Given the description of an element on the screen output the (x, y) to click on. 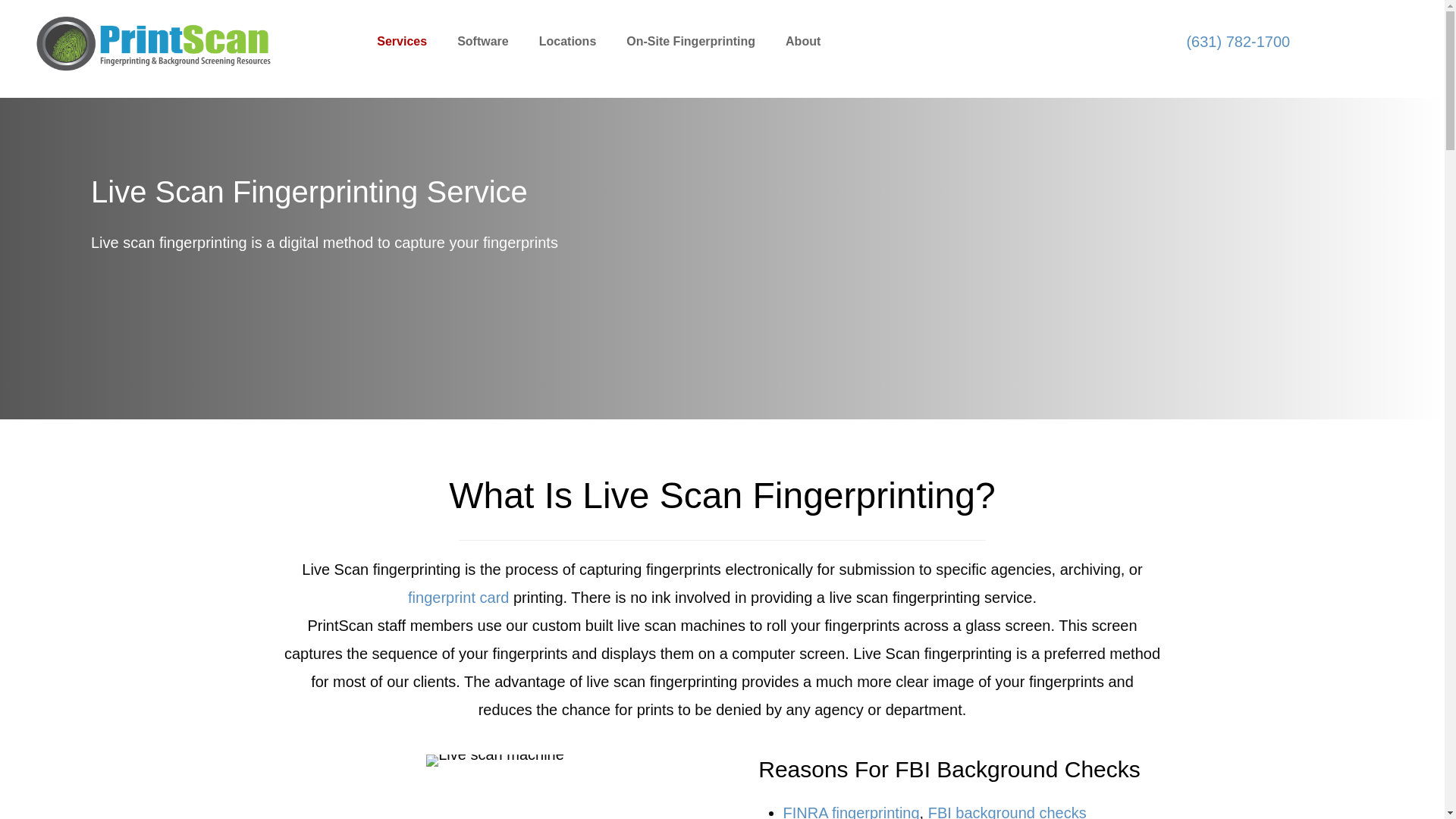
Services (765, 41)
Fingerprinting Near Me (401, 41)
Software (153, 43)
Live scan machine (483, 41)
